Given the description of an element on the screen output the (x, y) to click on. 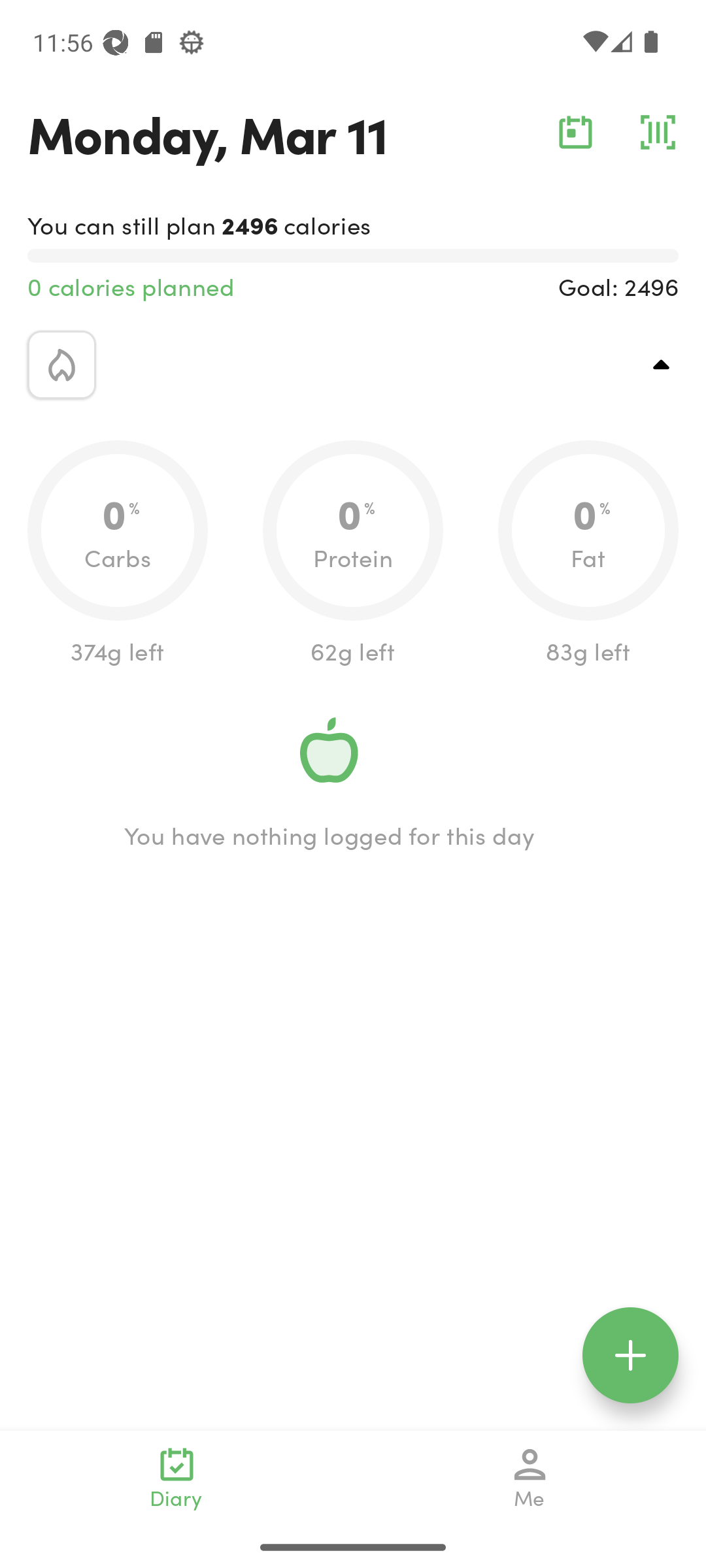
calendar_action (575, 132)
barcode_action (658, 132)
calorie_icon (62, 365)
top_right_action (661, 365)
0.0 0 % Carbs 374g left (117, 553)
0.0 0 % Protein 62g left (352, 553)
0.0 0 % Fat 83g left (588, 553)
floating_action_icon (630, 1355)
Me navigation_icon (529, 1478)
